Given the description of an element on the screen output the (x, y) to click on. 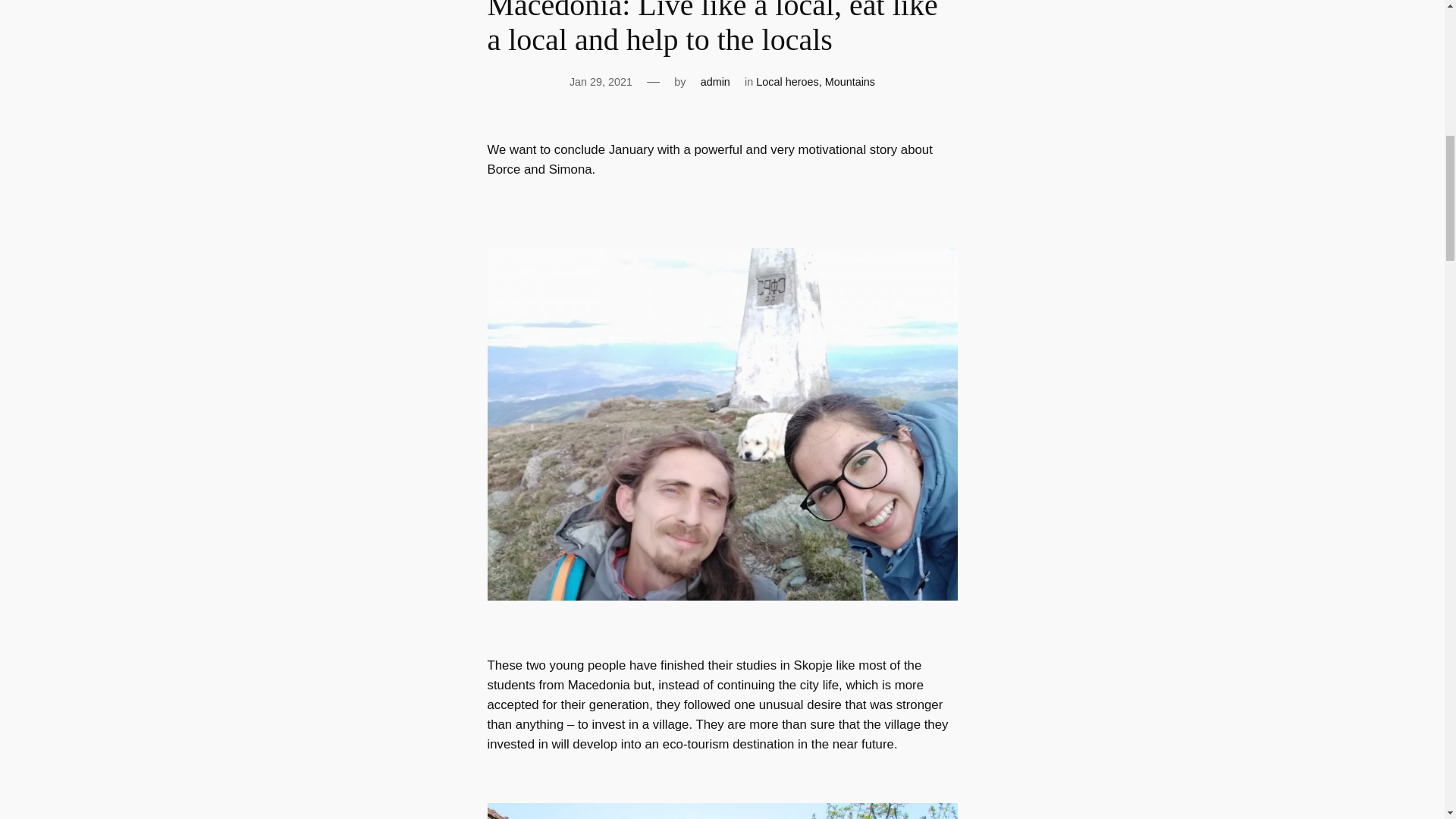
admin (715, 81)
Local heroes (786, 81)
Mountains (850, 81)
Jan 29, 2021 (600, 81)
